Given the description of an element on the screen output the (x, y) to click on. 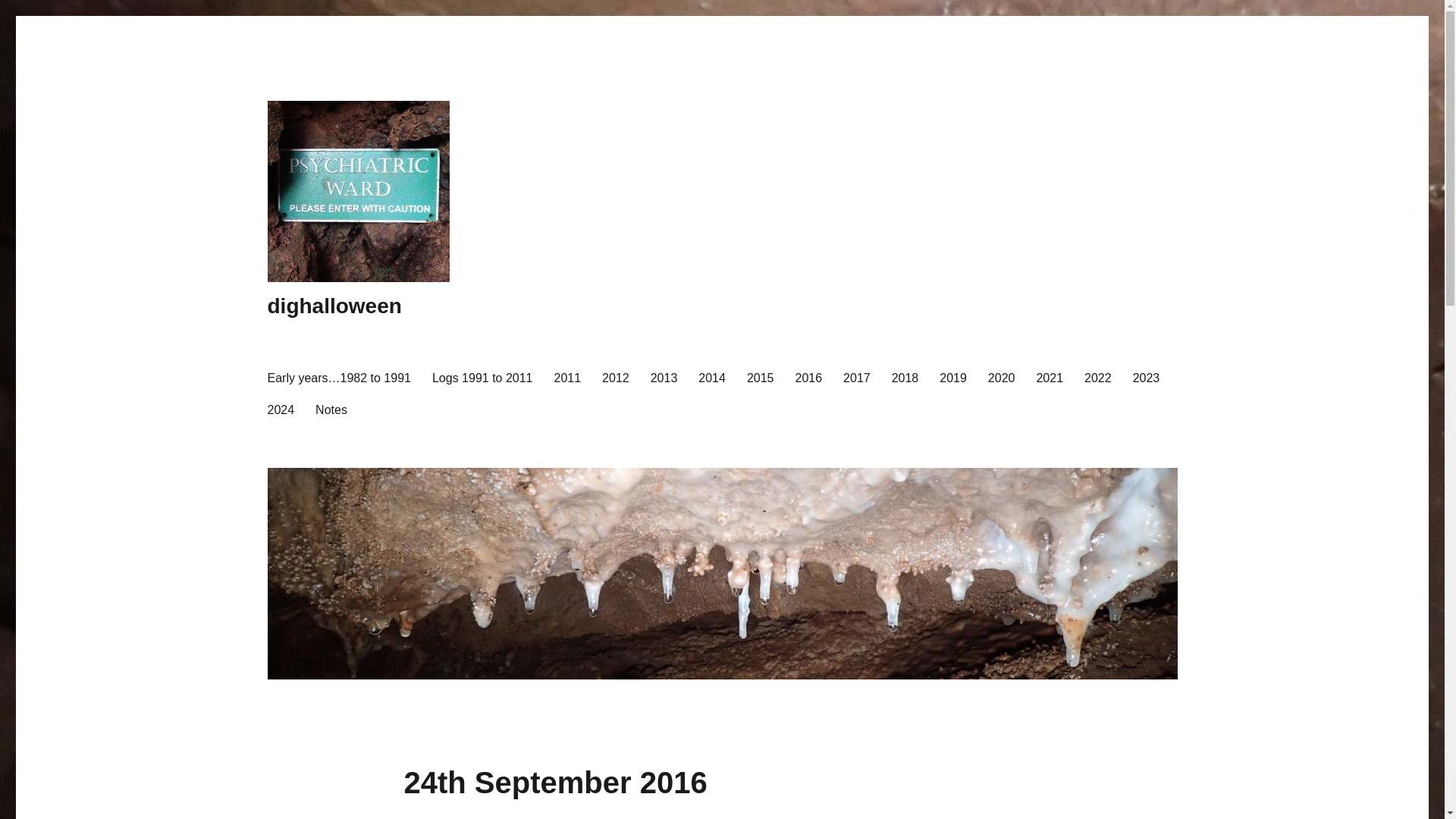
dighalloween (333, 305)
2011 (567, 377)
Notes (331, 409)
2013 (664, 377)
2024 (280, 409)
2022 (1098, 377)
Logs 1991 to 2011 (482, 377)
2019 (952, 377)
2017 (856, 377)
2020 (1001, 377)
2023 (1146, 377)
2018 (905, 377)
2014 (711, 377)
2021 (1049, 377)
2015 (760, 377)
